Given the description of an element on the screen output the (x, y) to click on. 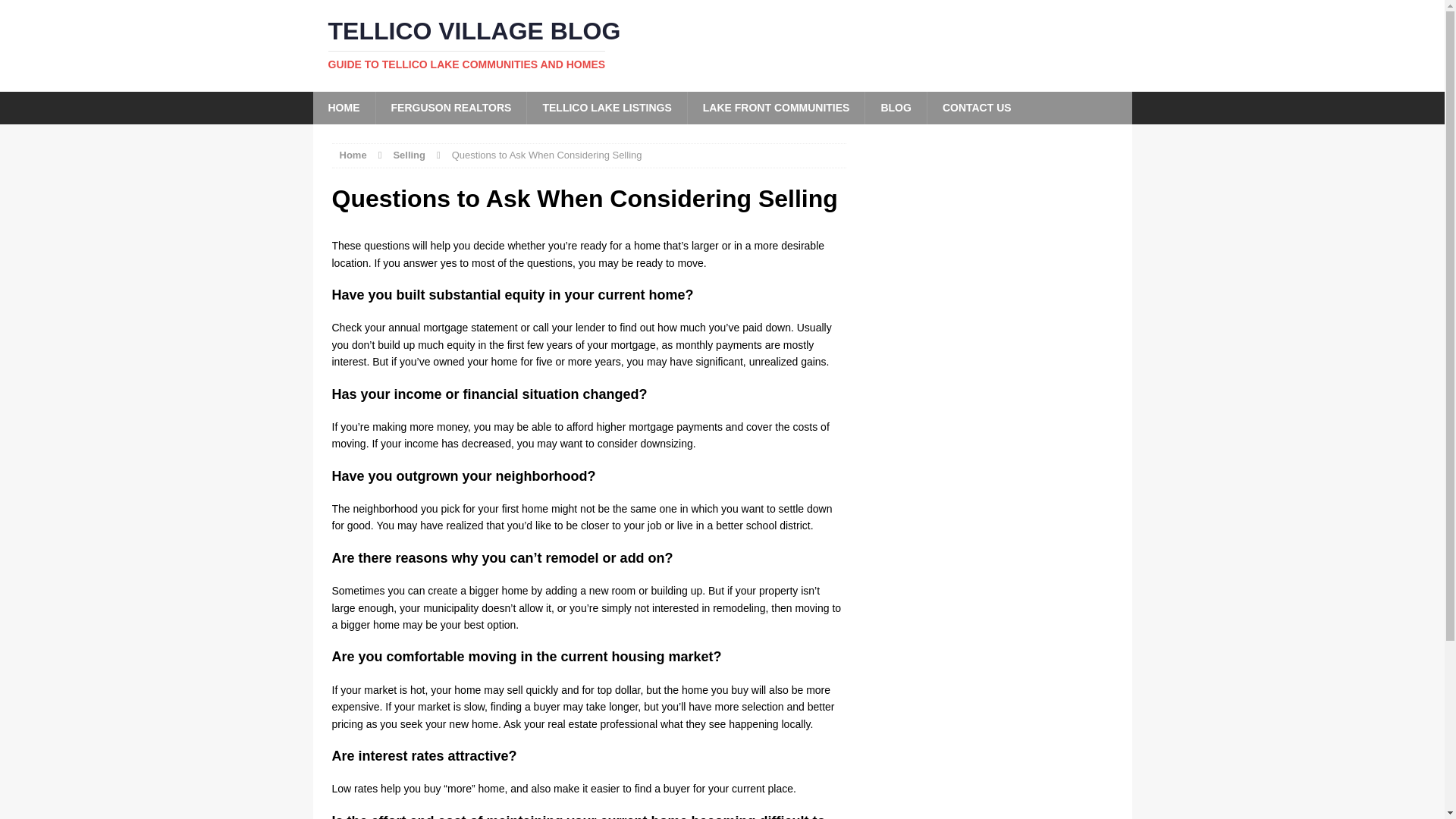
BLOG (895, 107)
Selling (409, 154)
HOME (343, 107)
LAKE FRONT COMMUNITIES (775, 107)
FERGUSON REALTORS (449, 107)
Tellico Village Blog (722, 45)
TELLICO LAKE LISTINGS (605, 107)
CONTACT US (976, 107)
Home (352, 154)
